Given the description of an element on the screen output the (x, y) to click on. 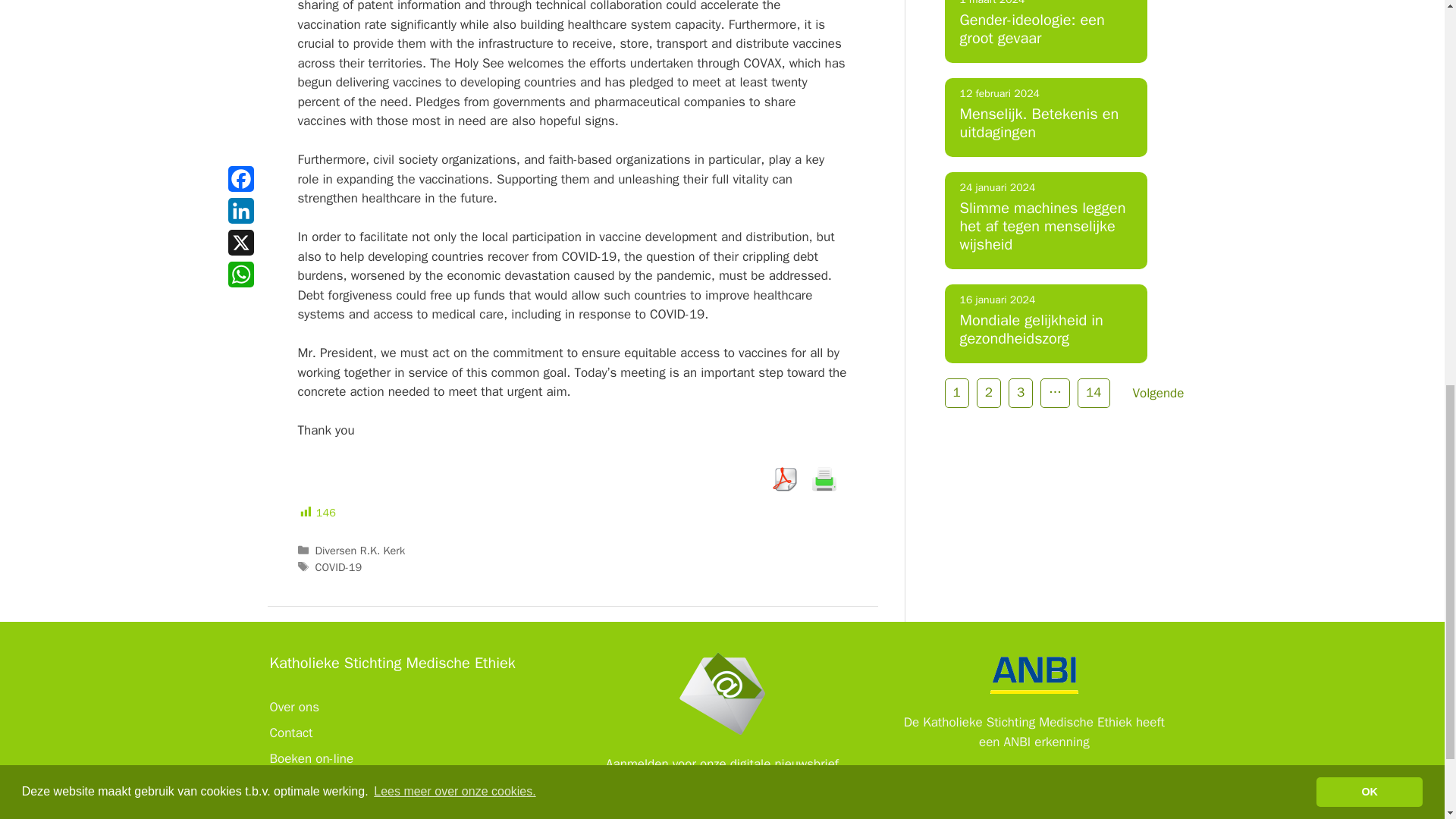
Scroll terug naar boven (1406, 720)
Print Content (824, 479)
View PDF (784, 479)
